Given the description of an element on the screen output the (x, y) to click on. 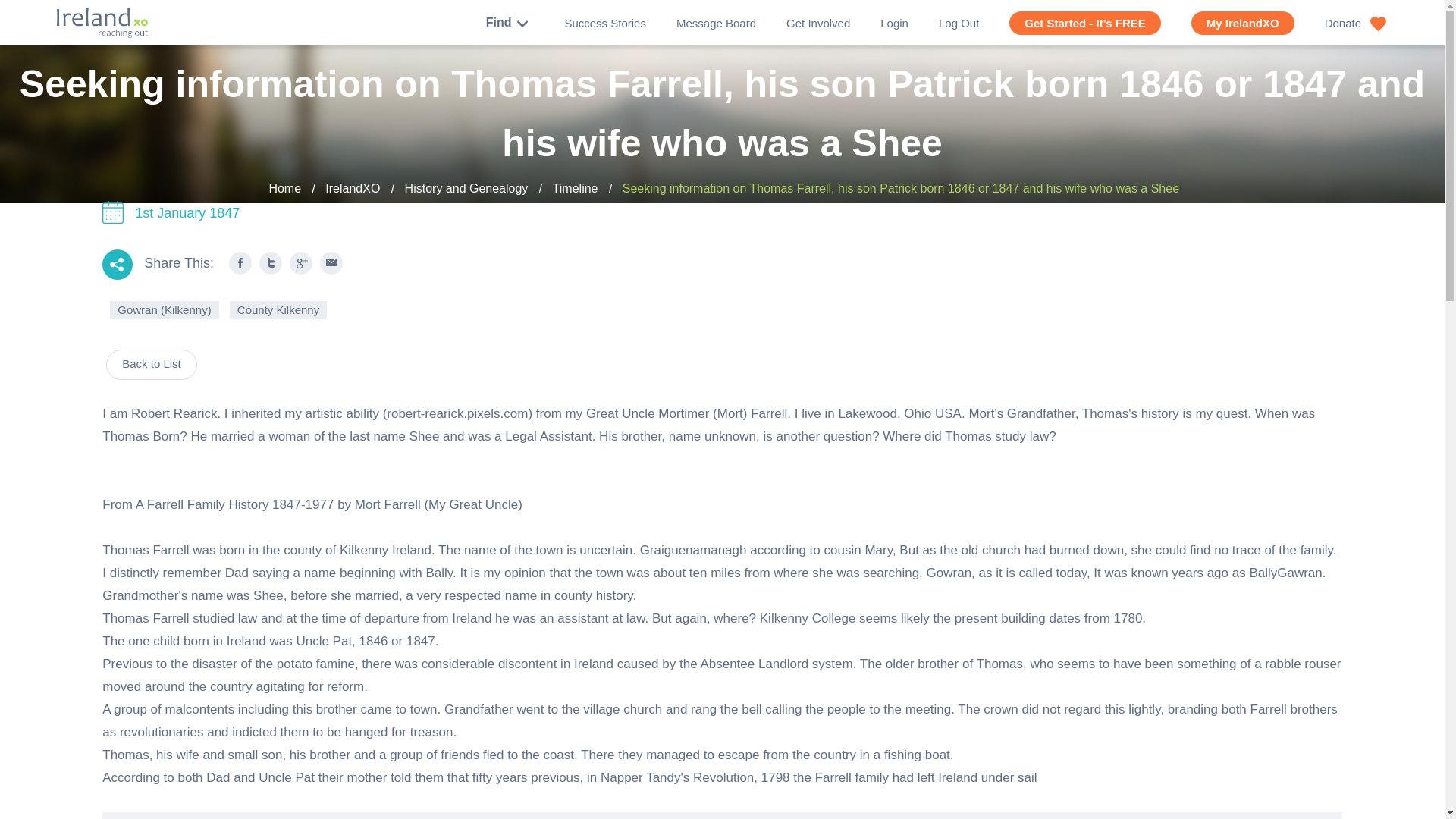
Message Board (716, 22)
Get Started - It's FREE (1084, 22)
Log Out (958, 22)
Get Involved (818, 22)
Success Stories (605, 22)
Login (894, 22)
Donate (1355, 22)
My IrelandXO (1242, 22)
